Given the description of an element on the screen output the (x, y) to click on. 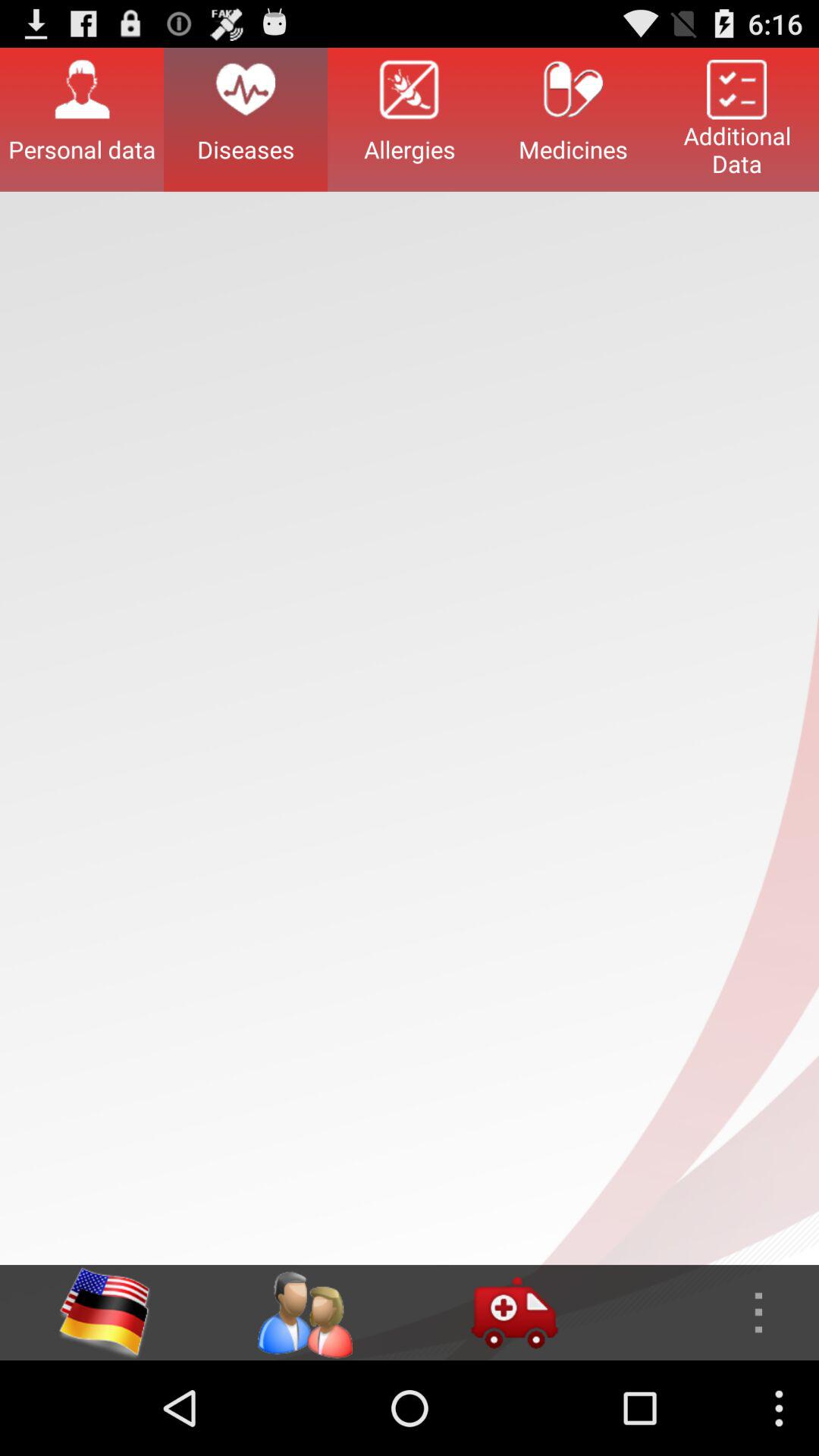
swipe until personal data button (81, 119)
